Given the description of an element on the screen output the (x, y) to click on. 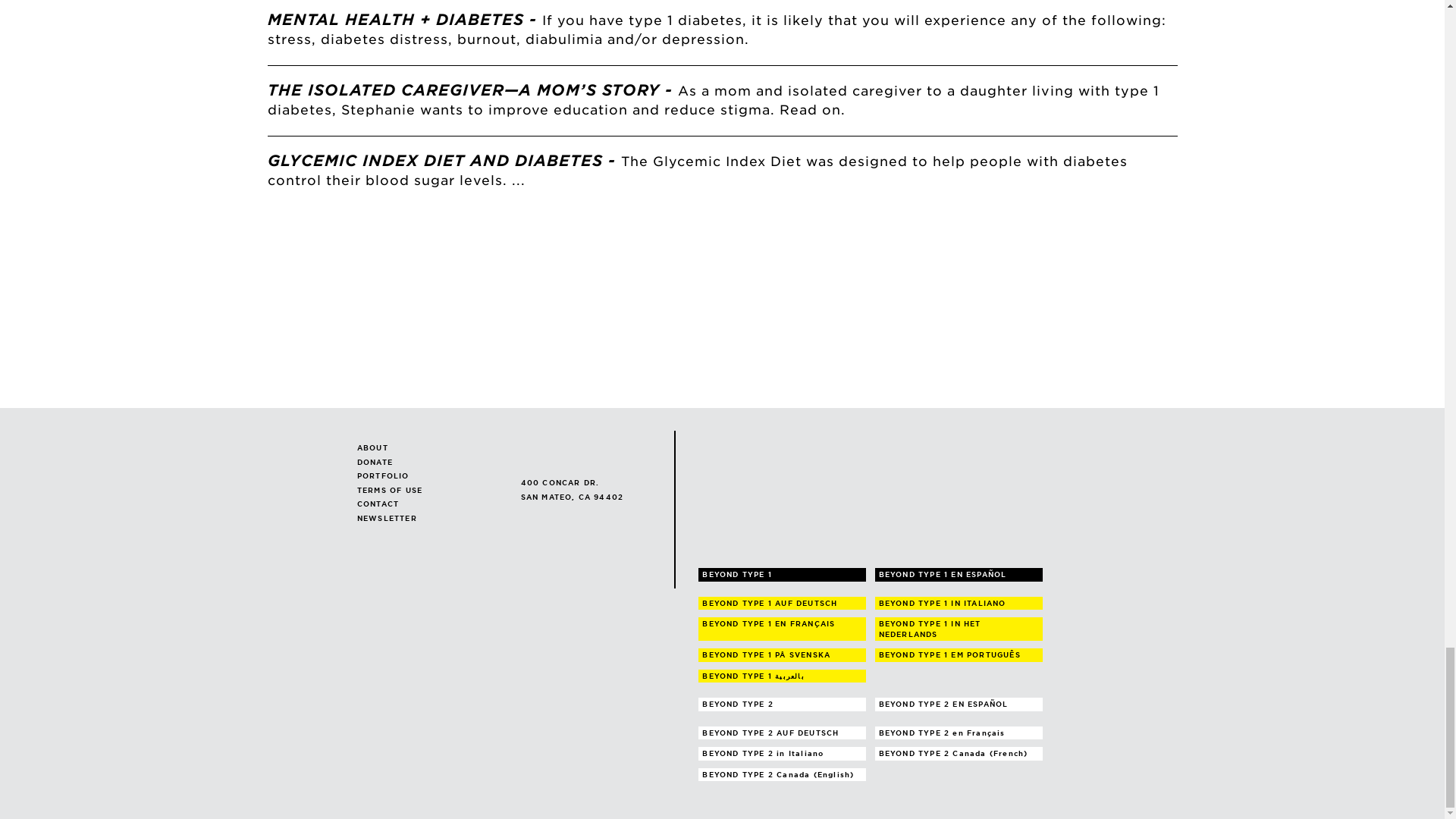
3rd party ad content (966, 307)
3rd party ad content (477, 307)
3rd party ad content (640, 307)
3rd party ad content (803, 307)
